Given the description of an element on the screen output the (x, y) to click on. 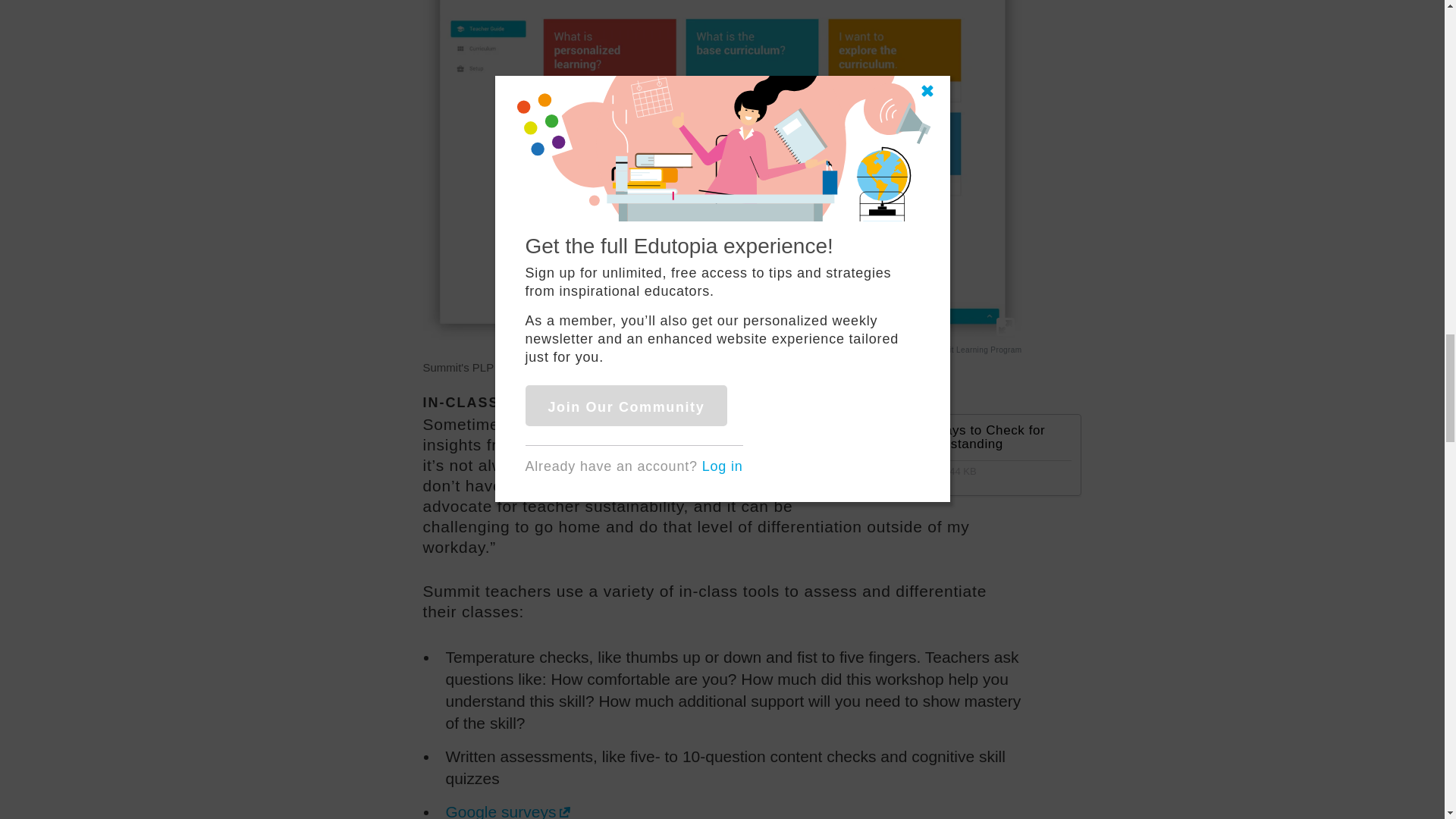
Google surveys (507, 811)
